Given the description of an element on the screen output the (x, y) to click on. 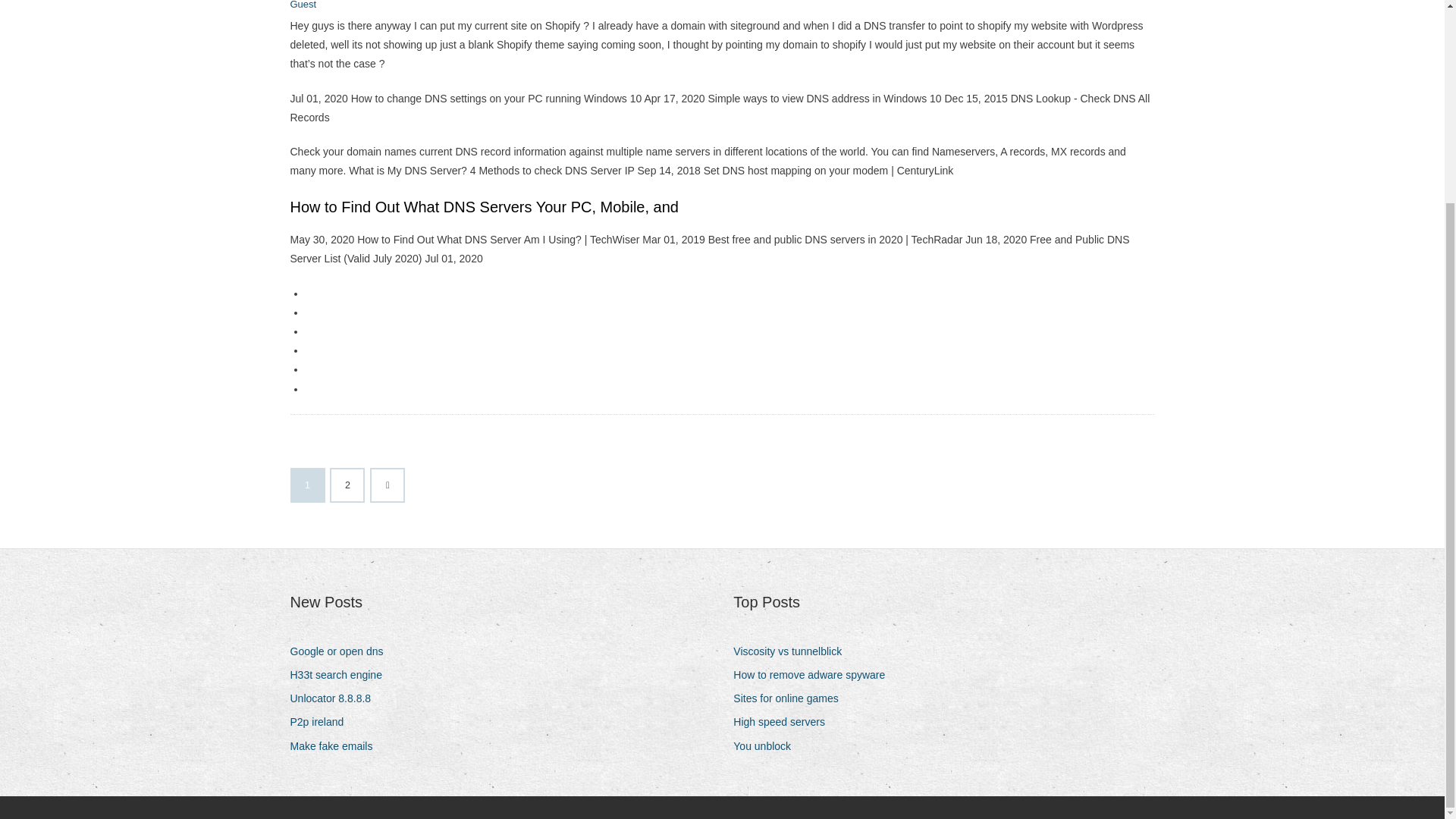
Guest (302, 4)
View all posts by Administrator (302, 4)
High speed servers (784, 721)
Viscosity vs tunnelblick (793, 651)
How to remove adware spyware (814, 675)
You unblock (767, 746)
Unlocator 8.8.8.8 (335, 698)
Google or open dns (341, 651)
H33t search engine (341, 675)
P2p ireland (322, 721)
